Given the description of an element on the screen output the (x, y) to click on. 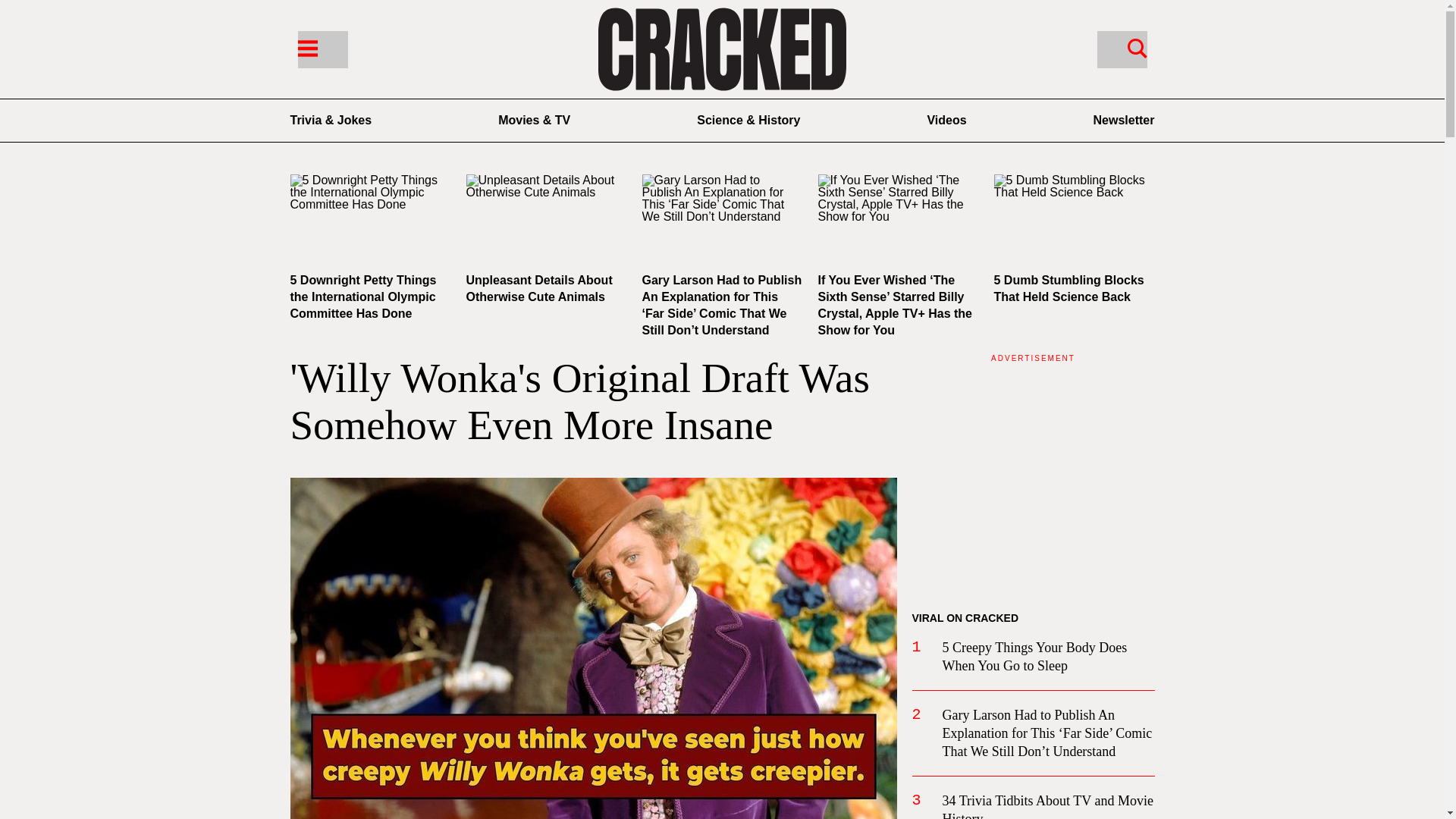
Cracked Newsletter (1123, 119)
Unpleasant Details About Otherwise Cute Animals (545, 219)
5 Dumb Stumbling Blocks That Held Science Back (1067, 288)
Search (1121, 48)
Menu (322, 48)
Search (1136, 47)
Videos (946, 119)
Menu (307, 47)
